Given the description of an element on the screen output the (x, y) to click on. 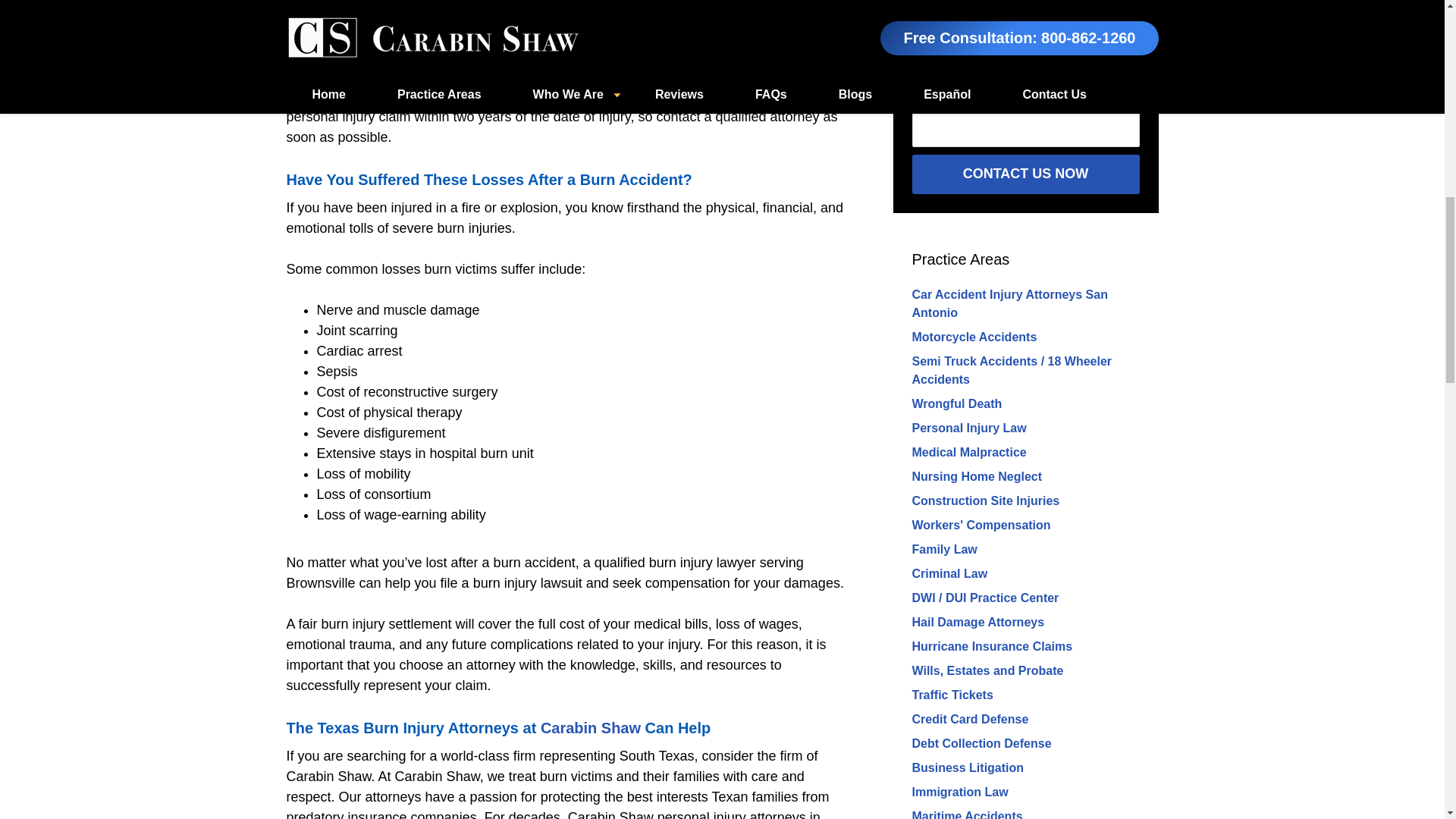
Nursing Home Neglect (976, 476)
Criminal Law (949, 573)
Personal Injury Law (968, 427)
Construction Site Injuries (985, 500)
CONTACT US NOW (1024, 174)
Car Accident Injury Attorneys San Antonio (1008, 303)
Practice Areas (960, 258)
Family Law (943, 549)
Carabin Shaw (590, 727)
Wrongful Death (956, 403)
Hurricane Insurance Claims (991, 645)
Hail Damage Attorneys (977, 621)
Motorcycle Accidents (973, 336)
Medical Malpractice (968, 451)
Workers' Compensation (980, 524)
